Given the description of an element on the screen output the (x, y) to click on. 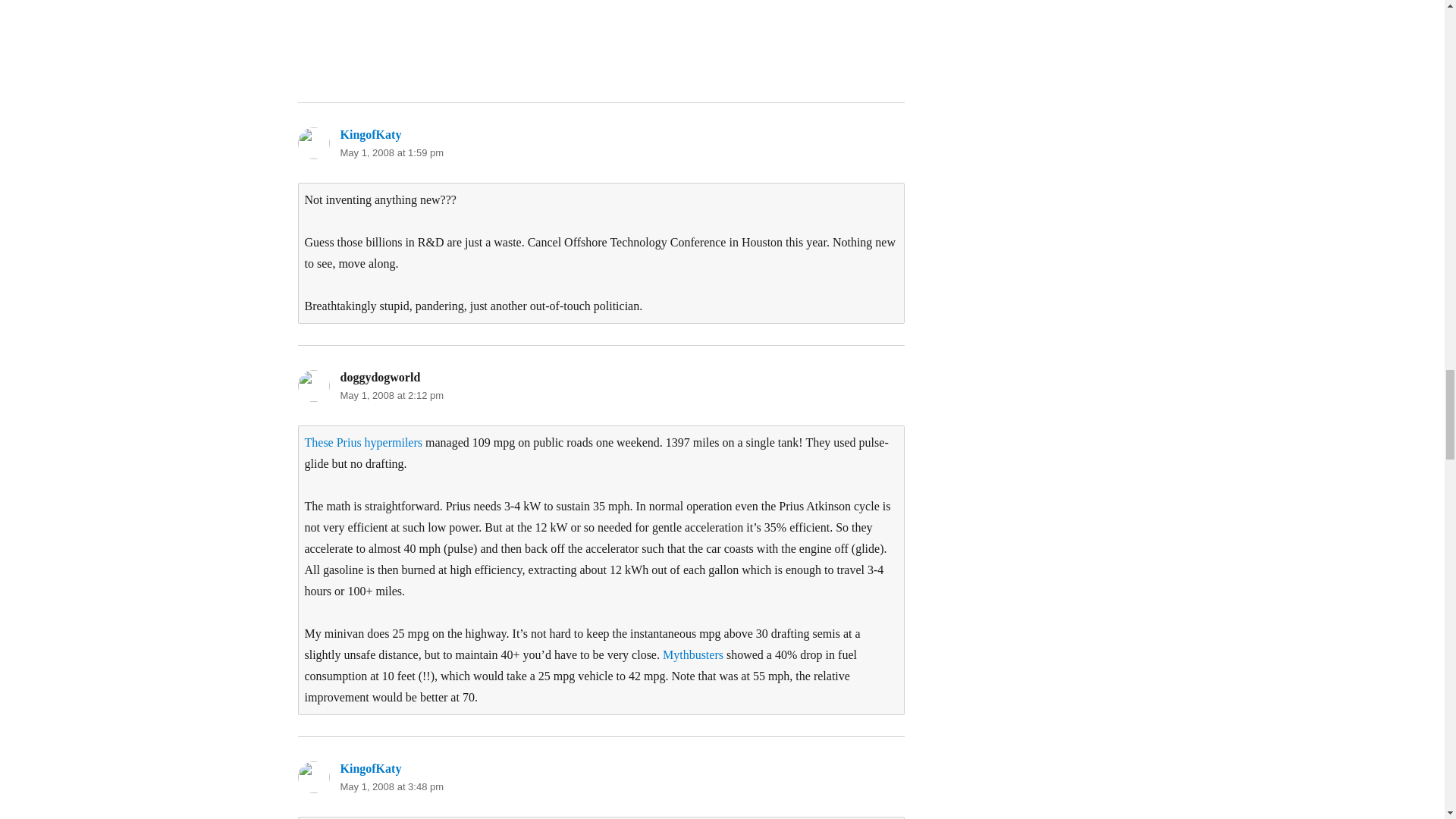
These Prius hypermilers (363, 441)
Mythbusters (692, 654)
KingofKaty (370, 133)
May 1, 2008 at 3:48 pm (391, 786)
May 1, 2008 at 2:12 pm (391, 395)
KingofKaty (370, 768)
May 1, 2008 at 1:59 pm (391, 152)
